Given the description of an element on the screen output the (x, y) to click on. 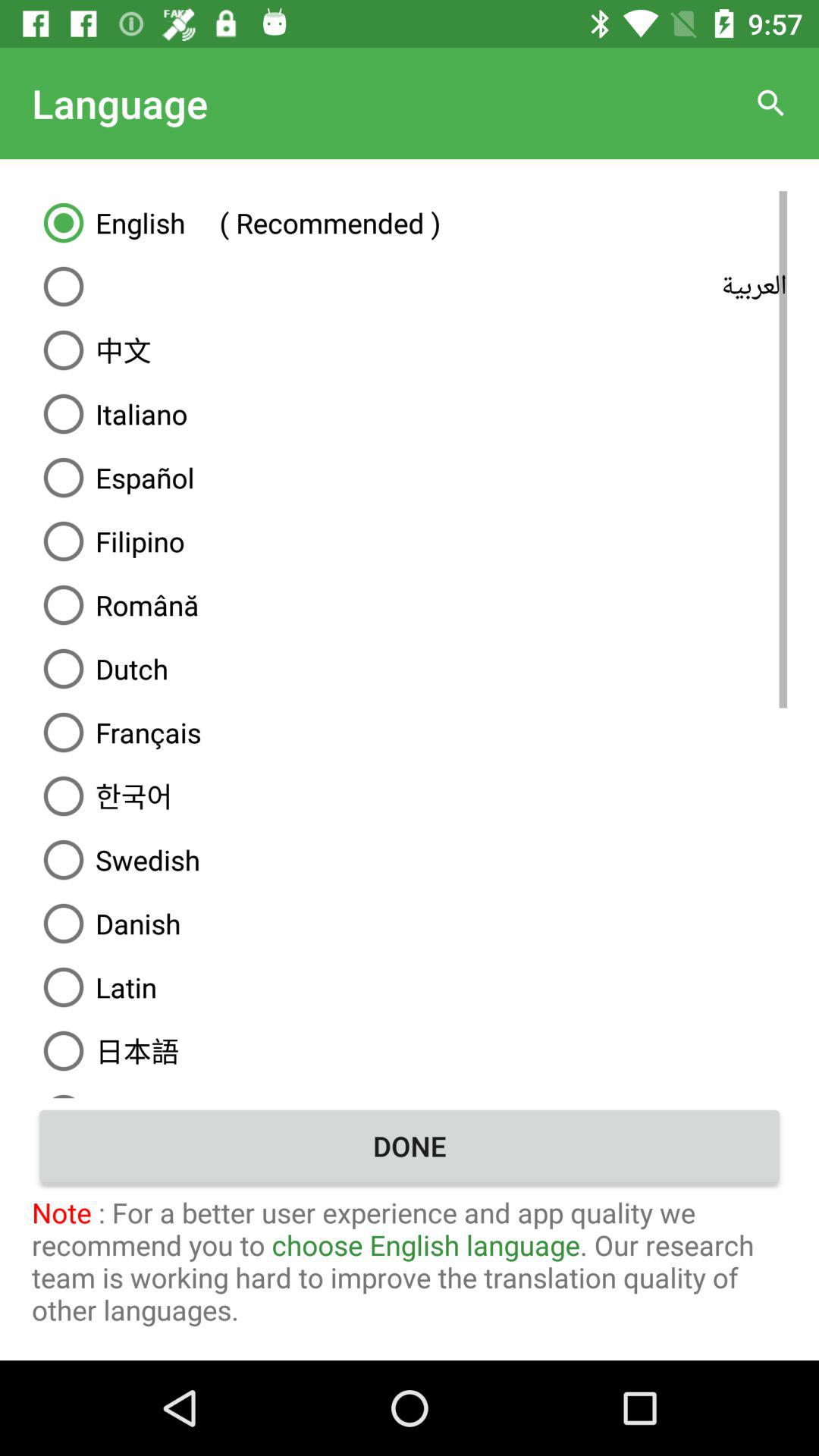
choose filipino item (409, 541)
